Given the description of an element on the screen output the (x, y) to click on. 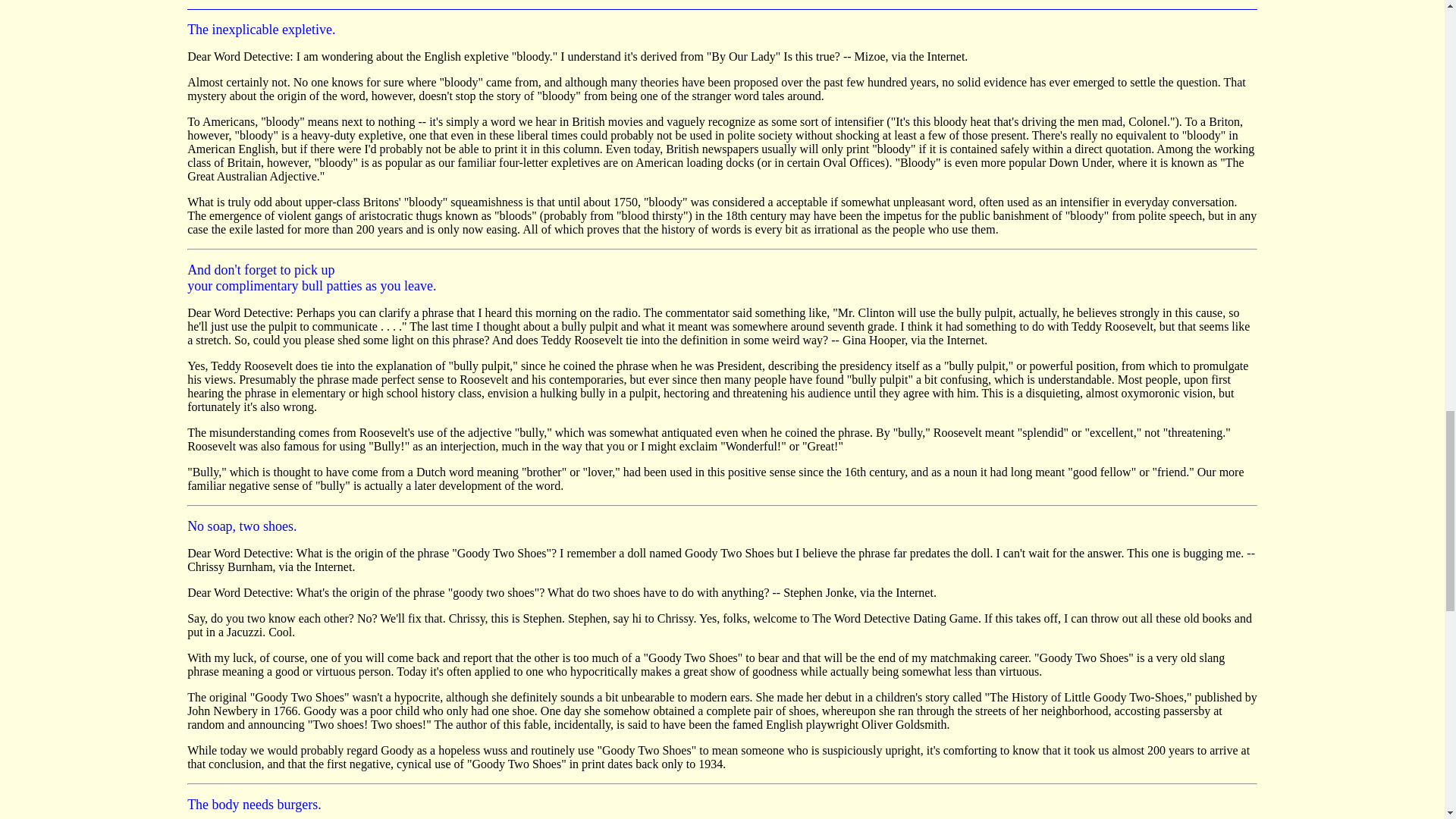
No soap, two shoes. (242, 526)
The body needs burgers. (254, 804)
The inexplicable expletive. (260, 29)
